Given the description of an element on the screen output the (x, y) to click on. 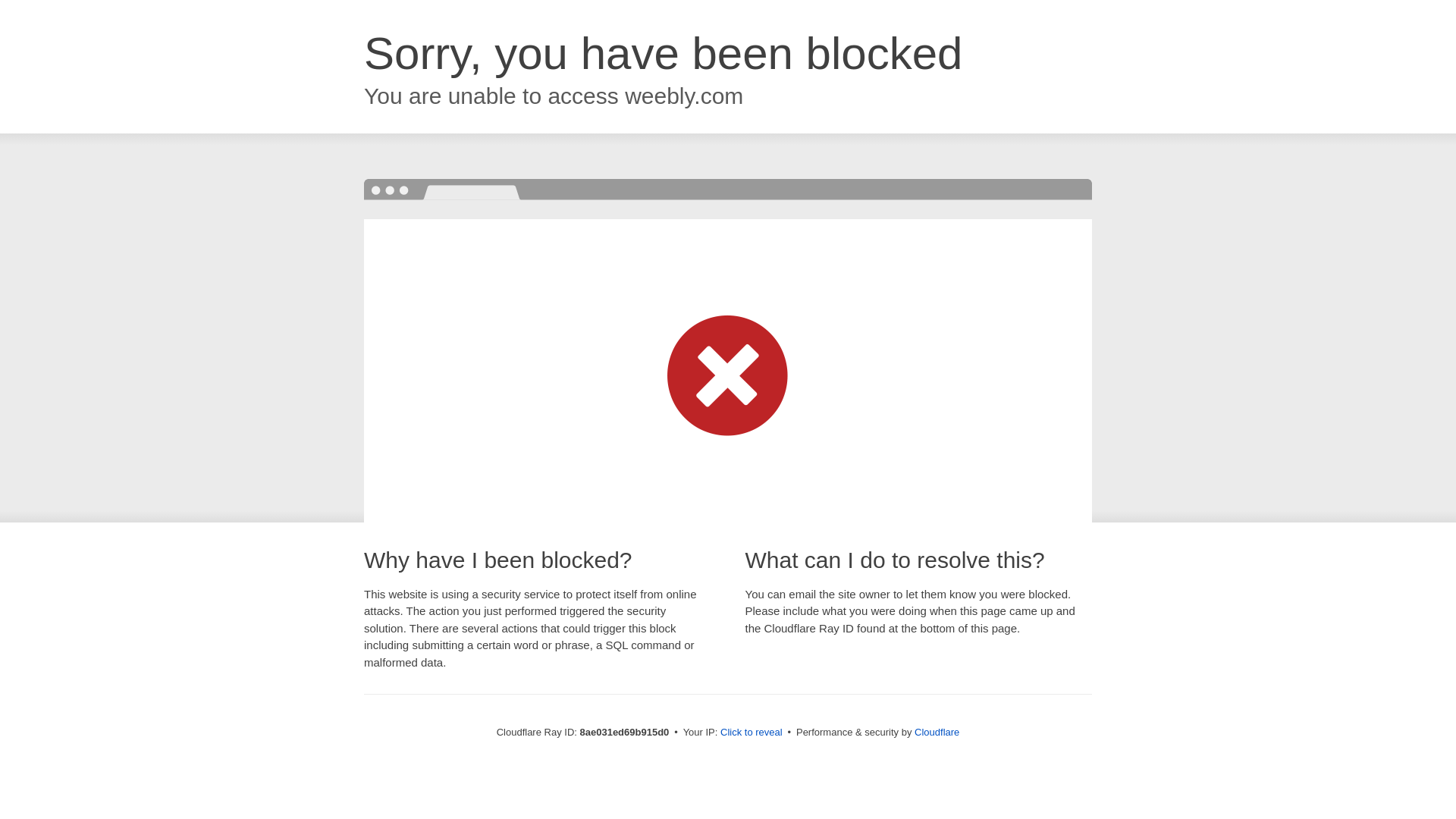
Click to reveal (751, 732)
Cloudflare (936, 731)
